Given the description of an element on the screen output the (x, y) to click on. 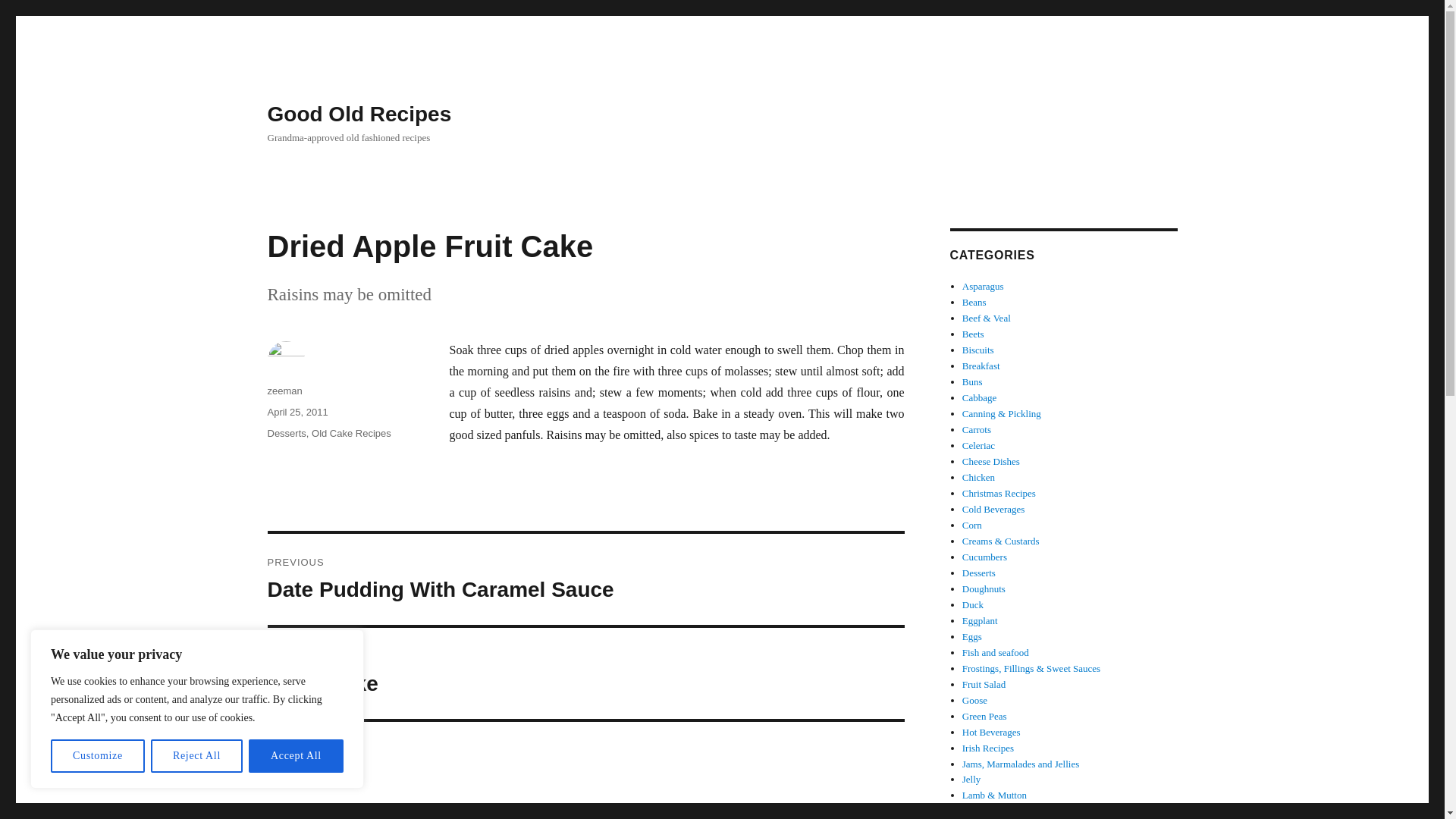
Celeriac (978, 445)
zeeman (283, 390)
Cabbage (585, 578)
Cucumbers (978, 397)
Breakfast (984, 556)
Accept All (981, 365)
Old Cake Recipes (295, 756)
Customize (351, 432)
Reject All (97, 756)
